Given the description of an element on the screen output the (x, y) to click on. 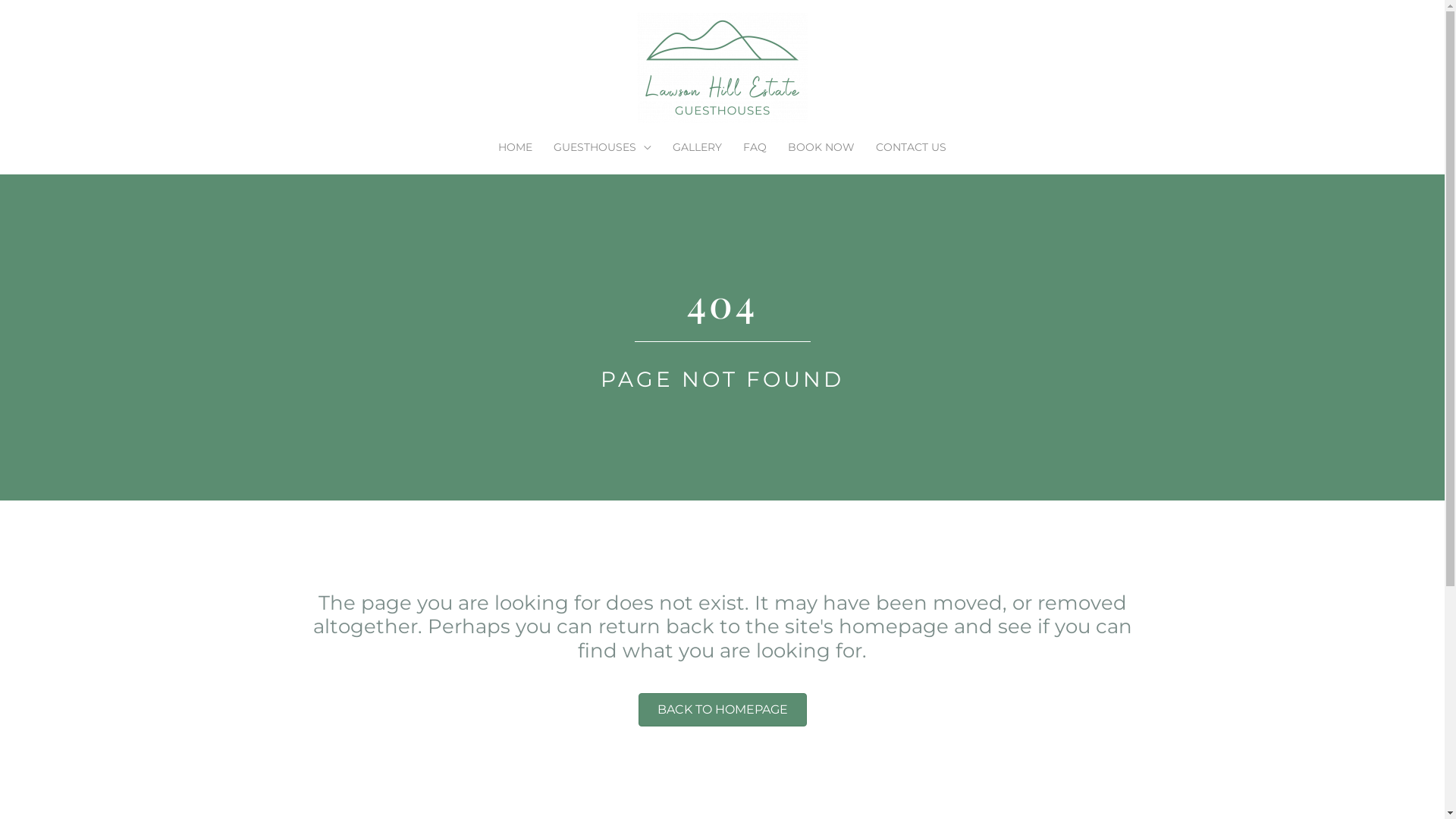
CONTACT US Element type: text (911, 146)
GALLERY Element type: text (697, 146)
BACK TO HOMEPAGE Element type: text (722, 709)
FAQ Element type: text (754, 146)
HOME Element type: text (514, 146)
BOOK NOW Element type: text (821, 146)
GUESTHOUSES Element type: text (602, 146)
